Given the description of an element on the screen output the (x, y) to click on. 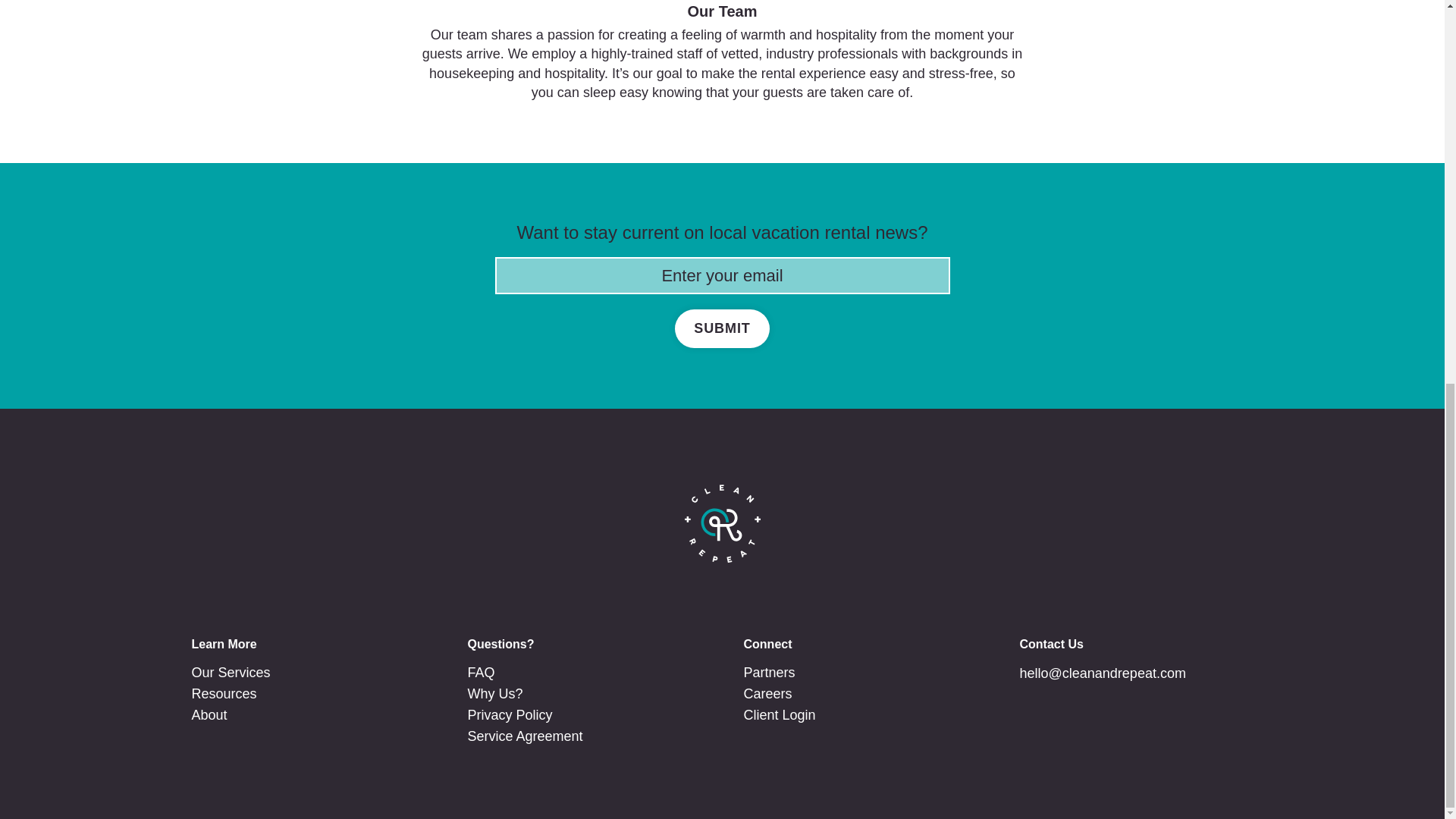
SUBMIT (721, 328)
FAQ (481, 672)
Why Us? (494, 694)
Partners (768, 672)
Service Agreement (524, 735)
Privacy Policy (509, 714)
Client Login (778, 714)
Our Services (229, 672)
About (208, 714)
Resources (223, 694)
